Given the description of an element on the screen output the (x, y) to click on. 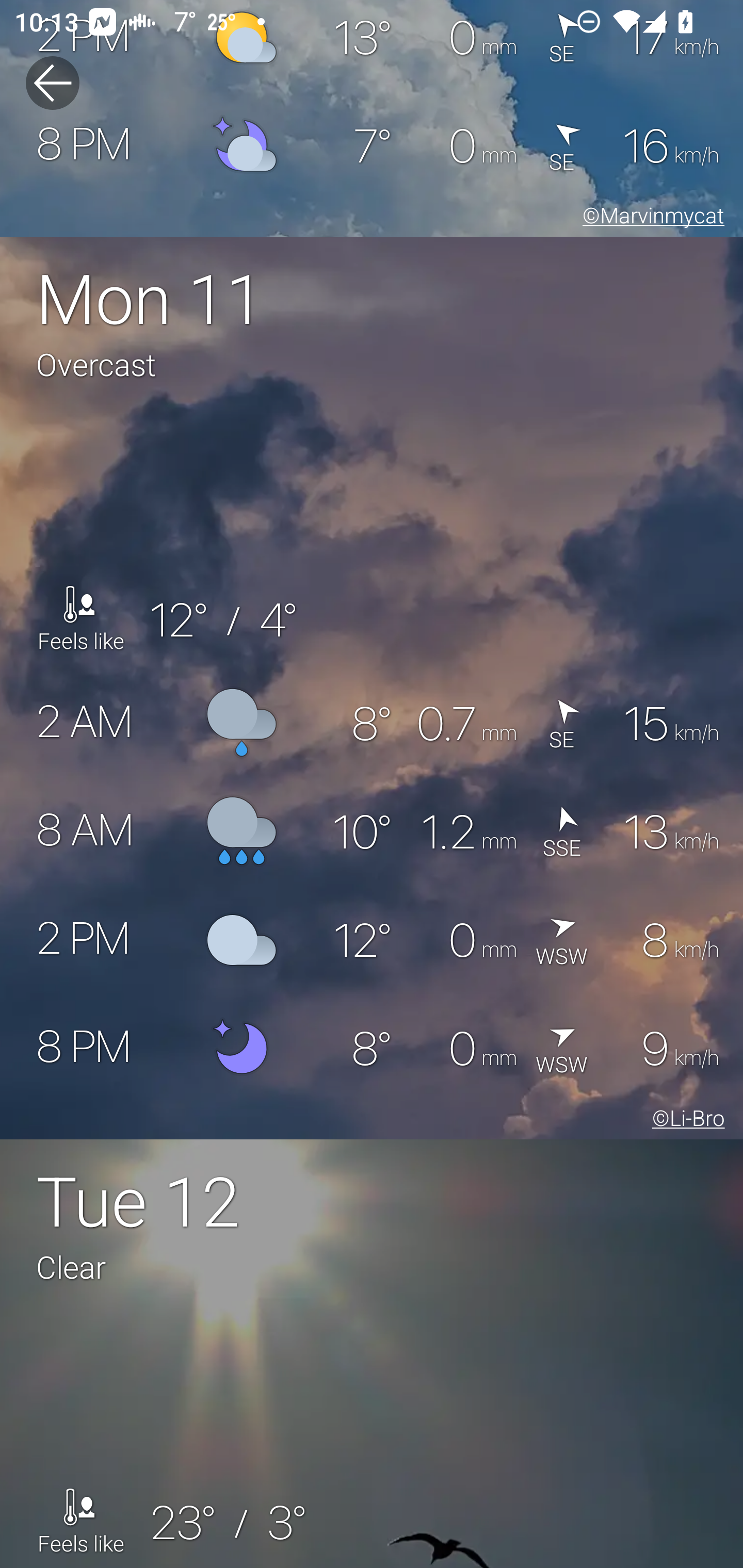
2 PM 13° 0 mm  SE 17 km/h (371, 46)
©Marvinmycat (650, 218)
2 AM 8° 0.7 mm  SE 15 km/h (371, 723)
8 AM 10° 1.2 mm  SSE 13 km/h (371, 831)
2 PM 12° 0 mm  WSW 8 km/h (371, 939)
8 PM 8° 0 mm  WSW 9 km/h (371, 1048)
©Li-Bro (684, 1120)
